Given the description of an element on the screen output the (x, y) to click on. 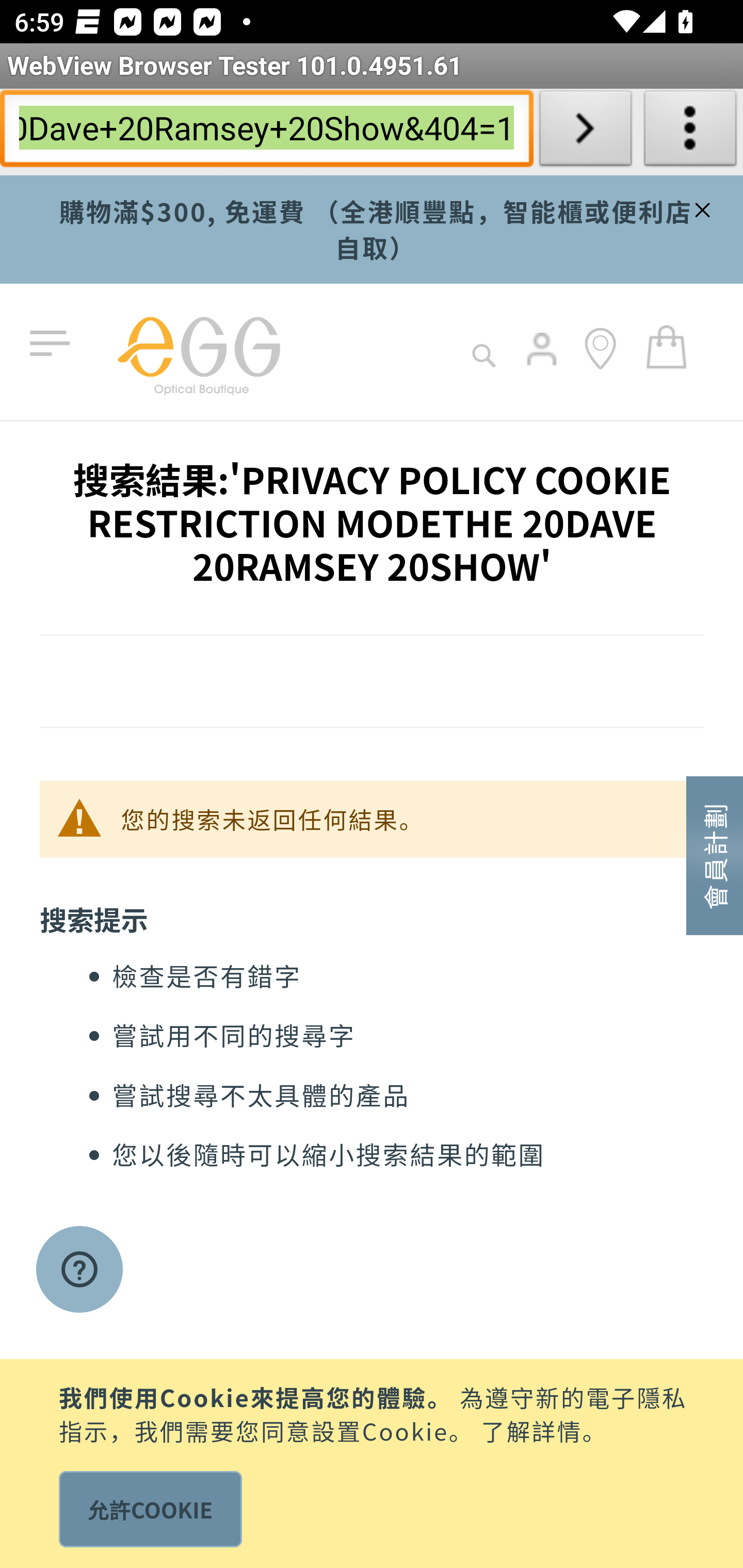
Load URL (585, 132)
About WebView (690, 132)
 (699, 206)
store logo eGG 網上商店 (198, 351)
切換導航 (54, 343)
我的購物車 (666, 345)
login (543, 362)
會員計劃 (714, 854)
Opens a widget where you can find more information (79, 1270)
了解詳情 (531, 1429)
允許COOKIE (149, 1509)
